Given the description of an element on the screen output the (x, y) to click on. 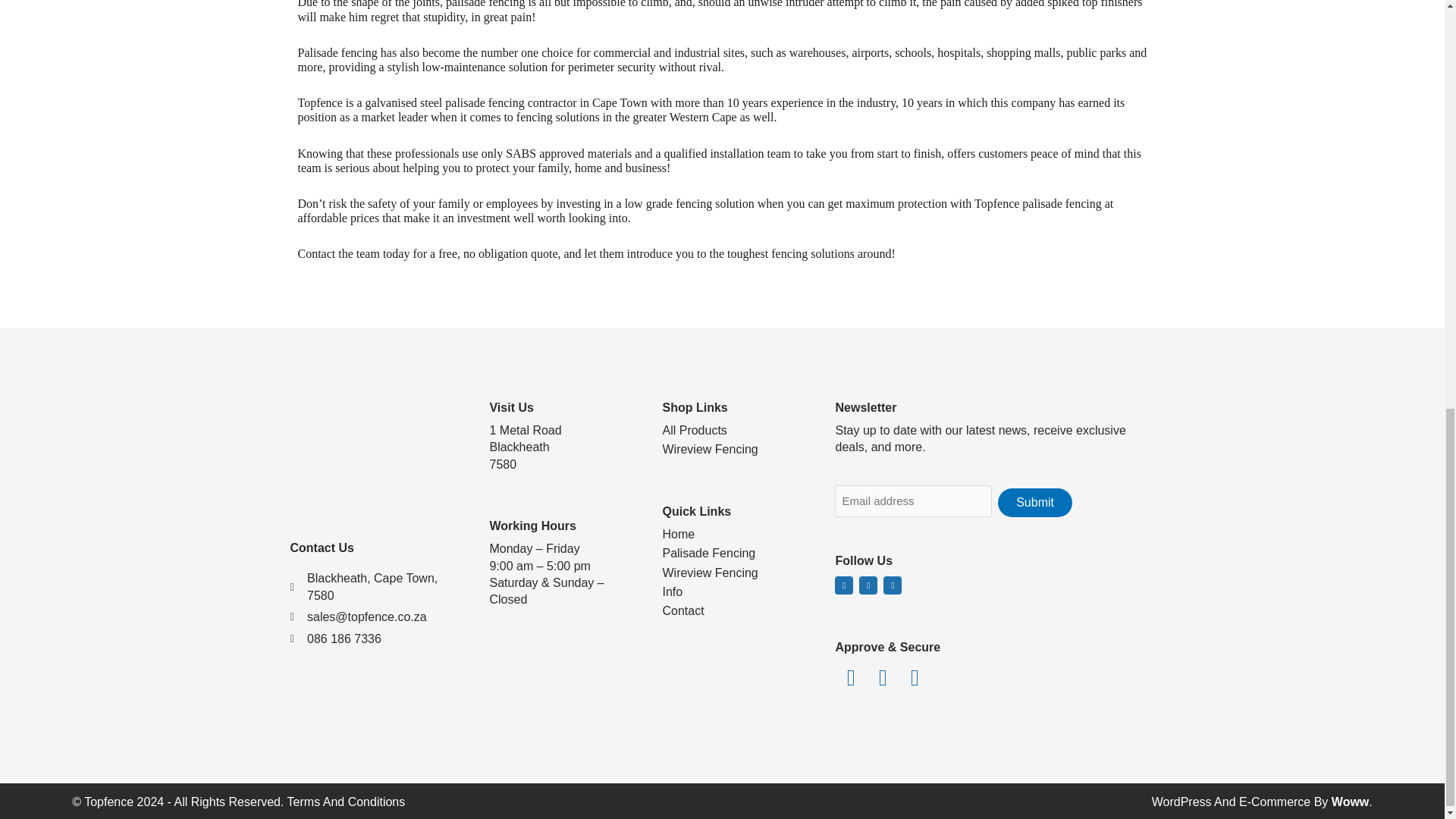
All Products (735, 430)
Contact (735, 610)
Wireview Fencing (735, 449)
086 186 7336 (376, 638)
Palisade Fencing (735, 553)
Wireview Fencing (735, 573)
Info (735, 591)
Home (735, 534)
Submit (1034, 502)
